Given the description of an element on the screen output the (x, y) to click on. 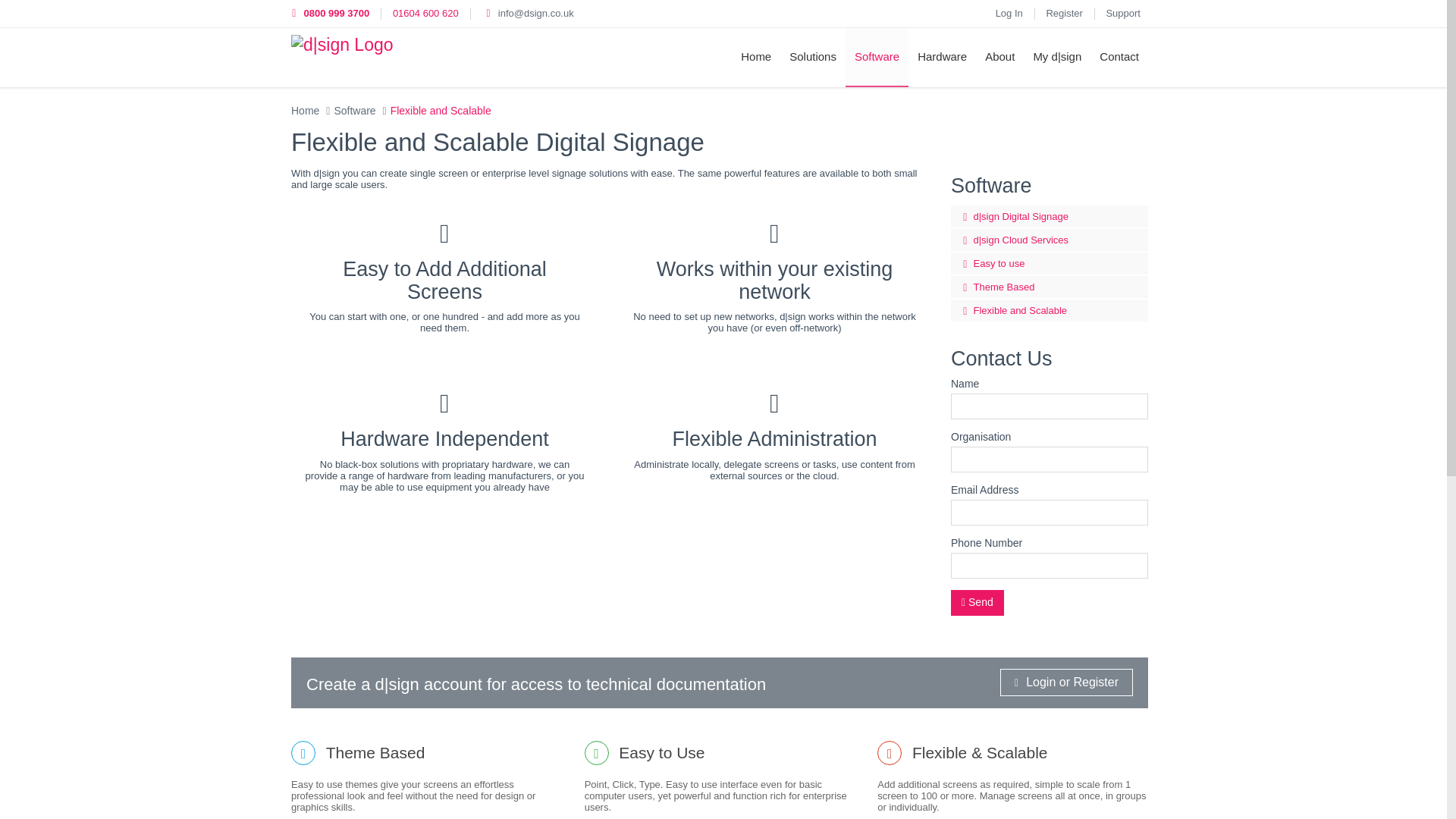
Support (1122, 12)
Software (354, 110)
Software (876, 56)
Log In (1009, 12)
Home (304, 110)
Contact (1119, 56)
Hardware (941, 56)
Register (1063, 12)
Solutions (812, 56)
